Given the description of an element on the screen output the (x, y) to click on. 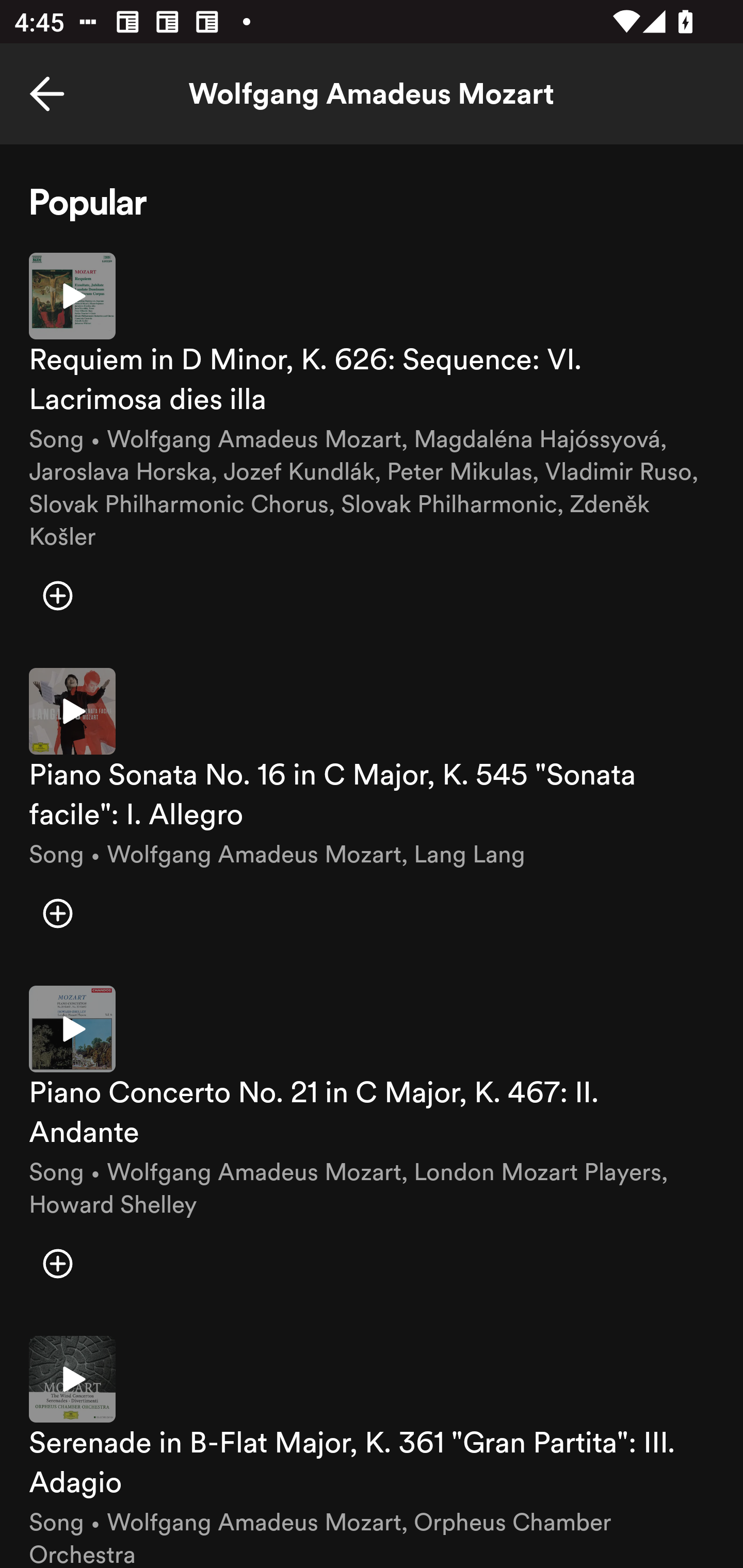
Back (46, 93)
Play preview (71, 295)
Add item (57, 595)
Play preview (71, 710)
Add item (57, 913)
Play preview (71, 1029)
Add item (57, 1263)
Play preview (71, 1378)
